Given the description of an element on the screen output the (x, y) to click on. 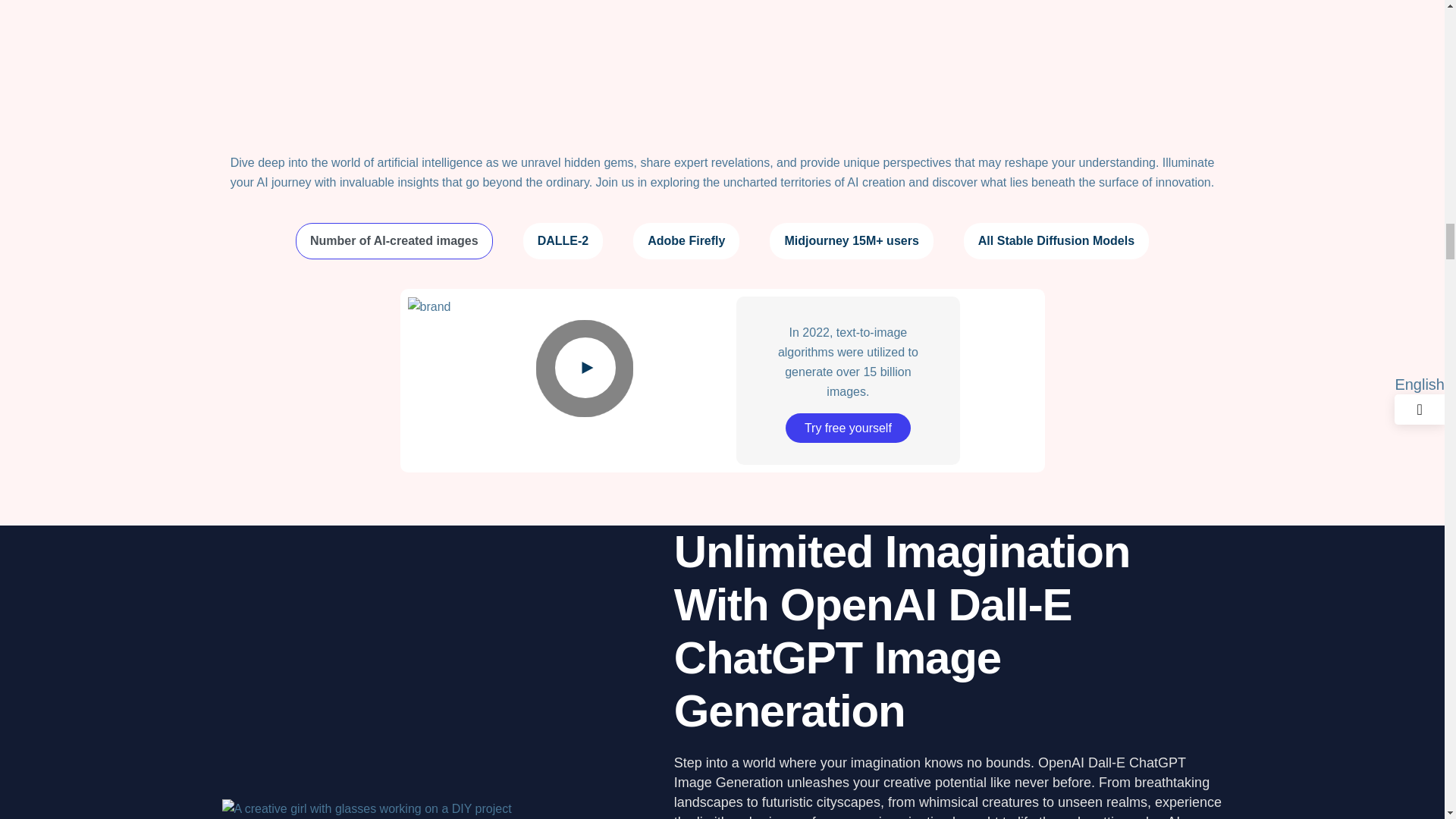
Number of AI-created images (394, 240)
Adobe Firefly (686, 240)
DALLE-2 (563, 240)
A creative girl with glasses working on a DIY project (366, 807)
